Given the description of an element on the screen output the (x, y) to click on. 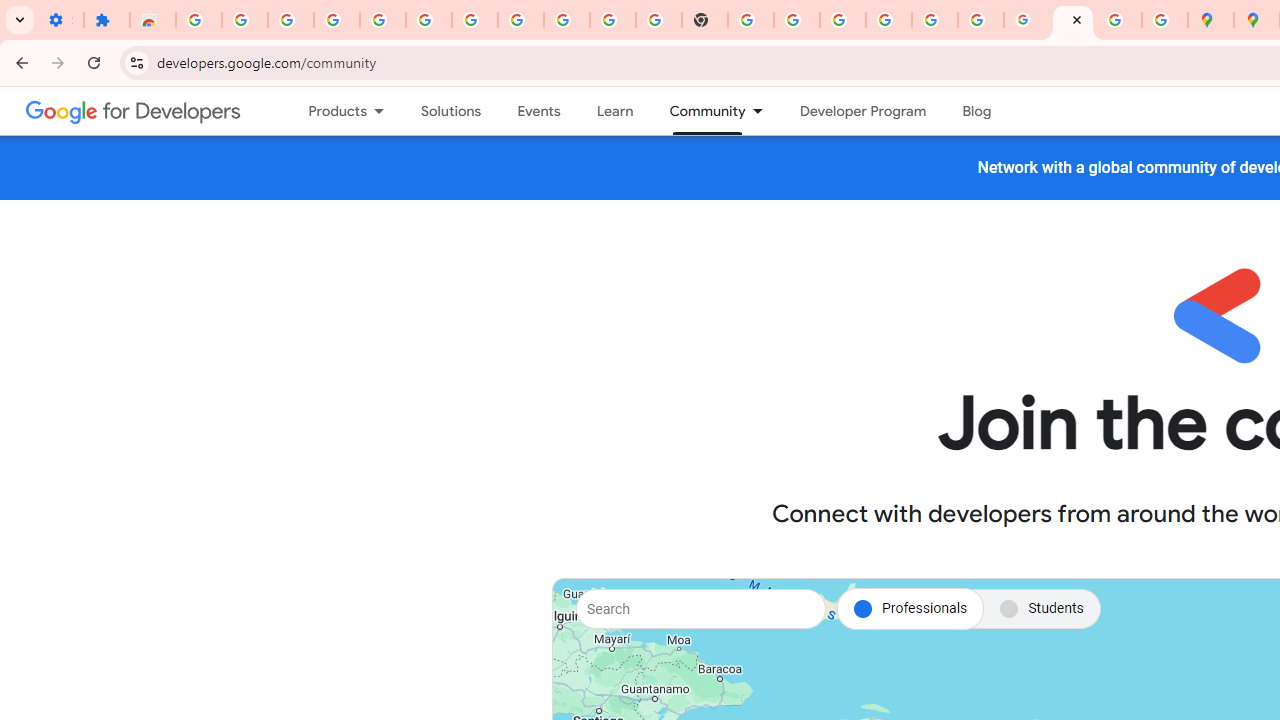
Settings - On startup (60, 20)
Search (699, 608)
Learn how to find your photos - Google Photos Help (382, 20)
Delete photos & videos - Computer - Google Photos Help (336, 20)
Reload (93, 62)
Events (538, 111)
System (10, 11)
Extensions (107, 20)
Back (19, 62)
Sign in - Google Accounts (198, 20)
Products (329, 111)
Blog (976, 111)
